Given the description of an element on the screen output the (x, y) to click on. 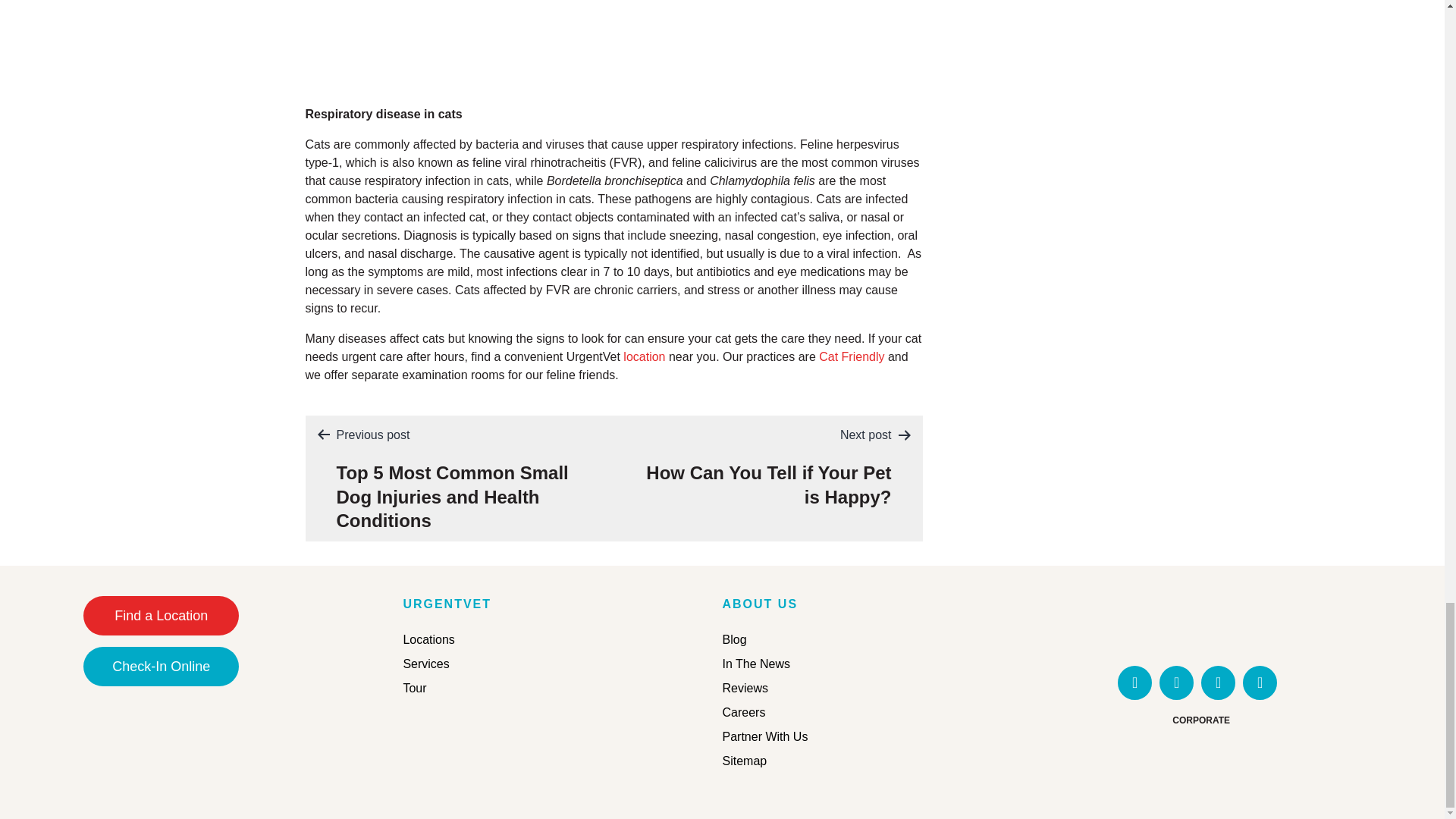
location (644, 356)
UV Logo Horizontal TM (767, 466)
Cat Friendly (1200, 624)
